Given the description of an element on the screen output the (x, y) to click on. 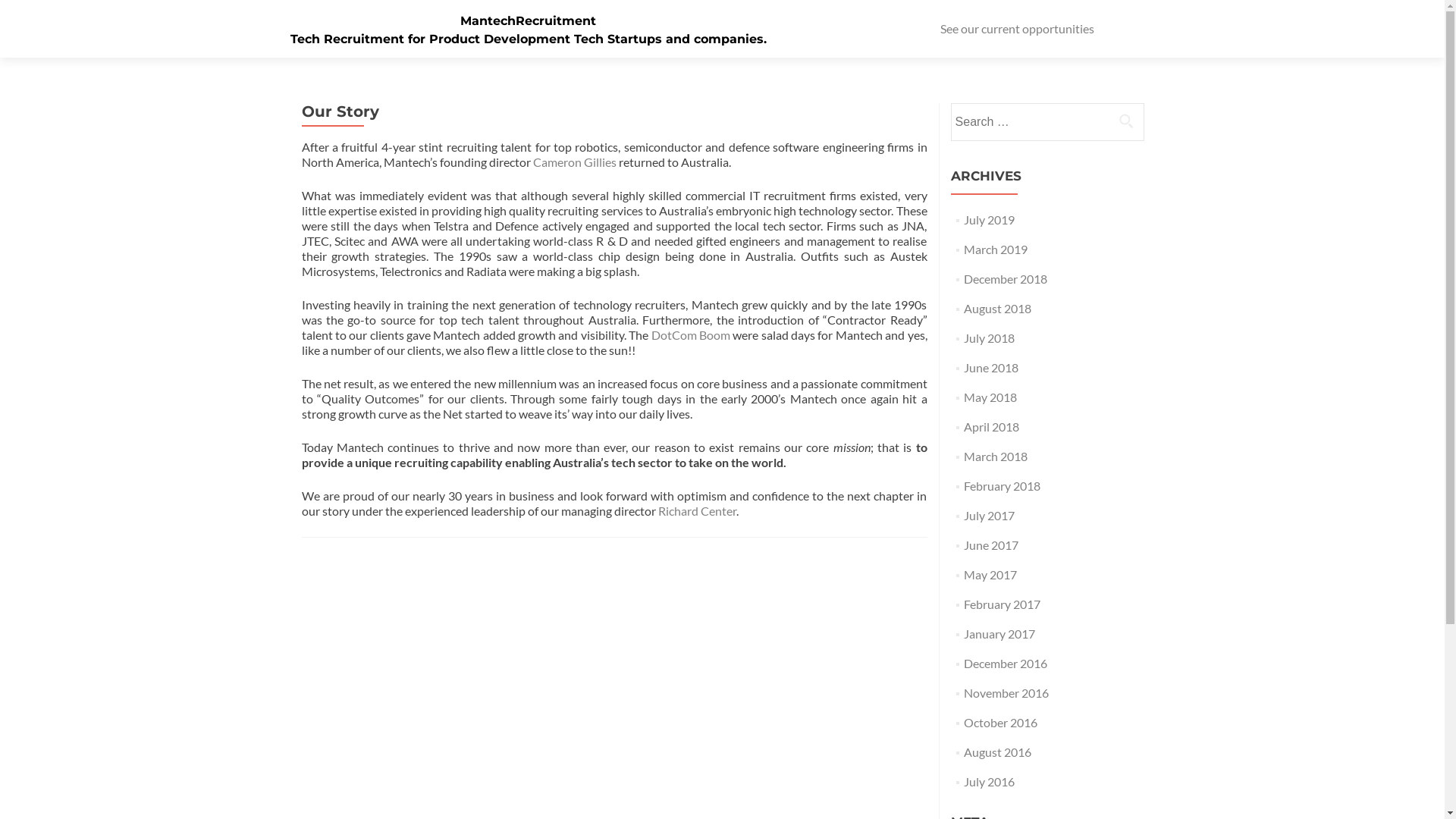
MantechRecruitment Element type: text (528, 20)
July 2019 Element type: text (988, 219)
June 2018 Element type: text (990, 367)
July 2017 Element type: text (988, 515)
May 2017 Element type: text (989, 574)
July 2018 Element type: text (988, 337)
February 2017 Element type: text (1001, 603)
July 2016 Element type: text (988, 781)
DotCom Boom Element type: text (690, 334)
May 2018 Element type: text (989, 396)
See our current opportunities Element type: text (1017, 28)
November 2016 Element type: text (1005, 692)
March 2019 Element type: text (995, 248)
January 2017 Element type: text (999, 633)
October 2016 Element type: text (1000, 722)
August 2016 Element type: text (997, 751)
Cameron Gillies Element type: text (575, 161)
June 2017 Element type: text (990, 544)
April 2018 Element type: text (991, 426)
February 2018 Element type: text (1001, 485)
Search Element type: text (1125, 120)
August 2018 Element type: text (997, 308)
Richard Center Element type: text (697, 510)
December 2016 Element type: text (1005, 662)
December 2018 Element type: text (1005, 278)
March 2018 Element type: text (995, 455)
